Given the description of an element on the screen output the (x, y) to click on. 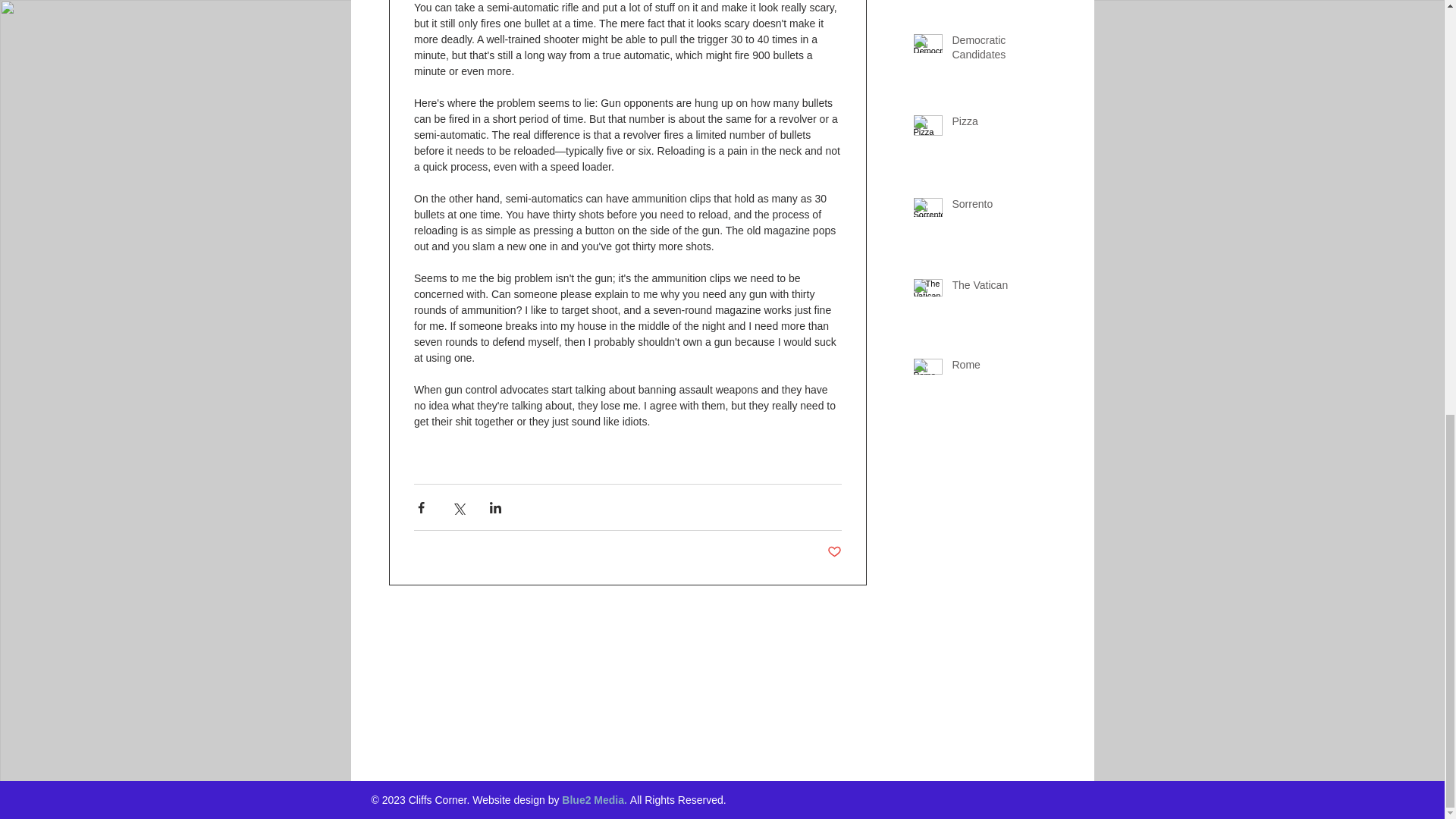
The Vatican (1006, 288)
Blue2 Media.  (595, 799)
Pizza (1006, 124)
Rome (1006, 368)
Sorrento (1006, 207)
Democratic Candidates (1006, 50)
Post not marked as liked (834, 552)
